Given the description of an element on the screen output the (x, y) to click on. 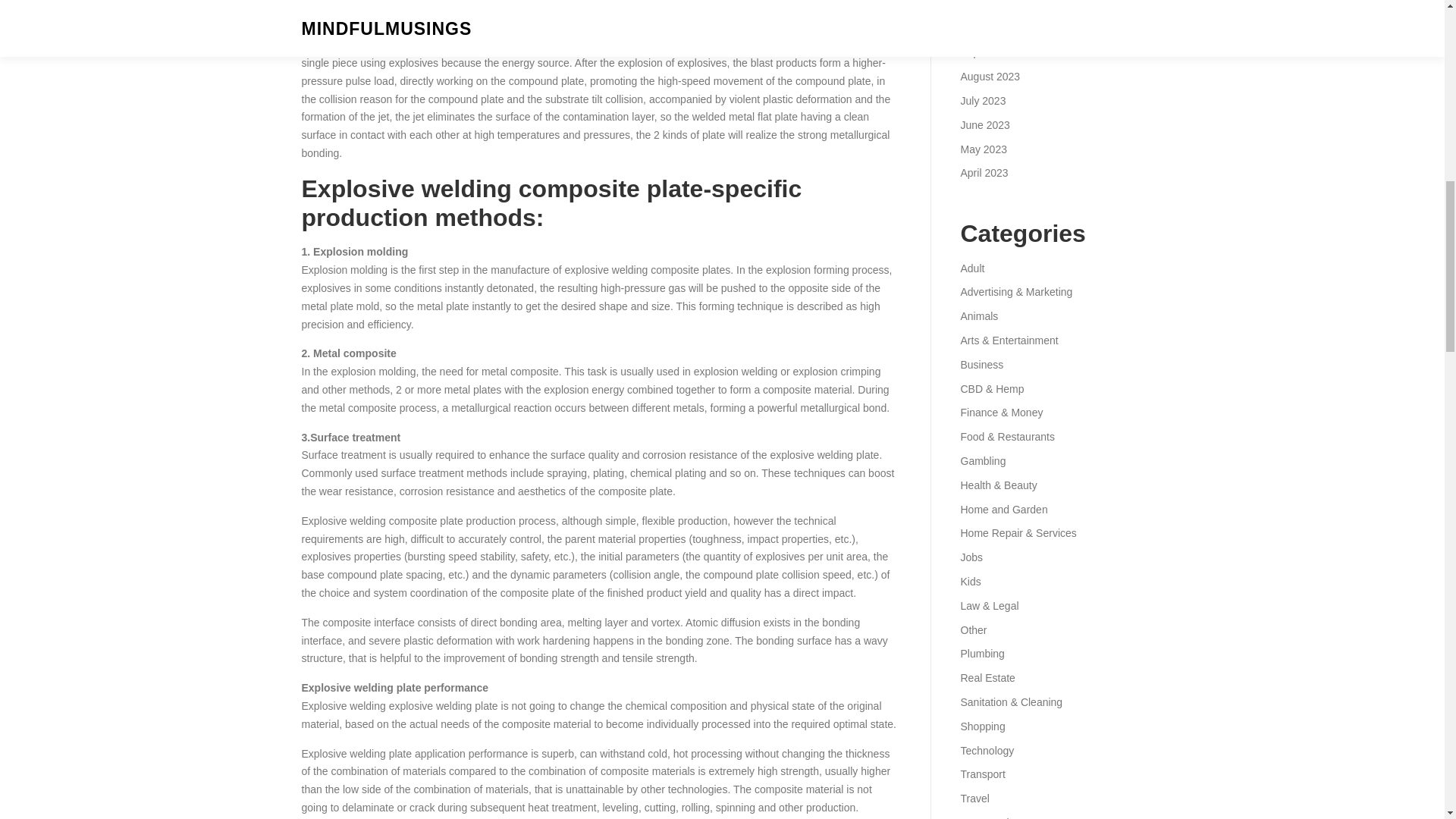
April 2023 (983, 173)
Adult (971, 268)
May 2023 (982, 149)
November 2023 (997, 5)
Animals (978, 316)
August 2023 (989, 76)
Business (981, 364)
September 2023 (999, 51)
July 2023 (982, 101)
June 2023 (984, 124)
October 2023 (992, 28)
